Given the description of an element on the screen output the (x, y) to click on. 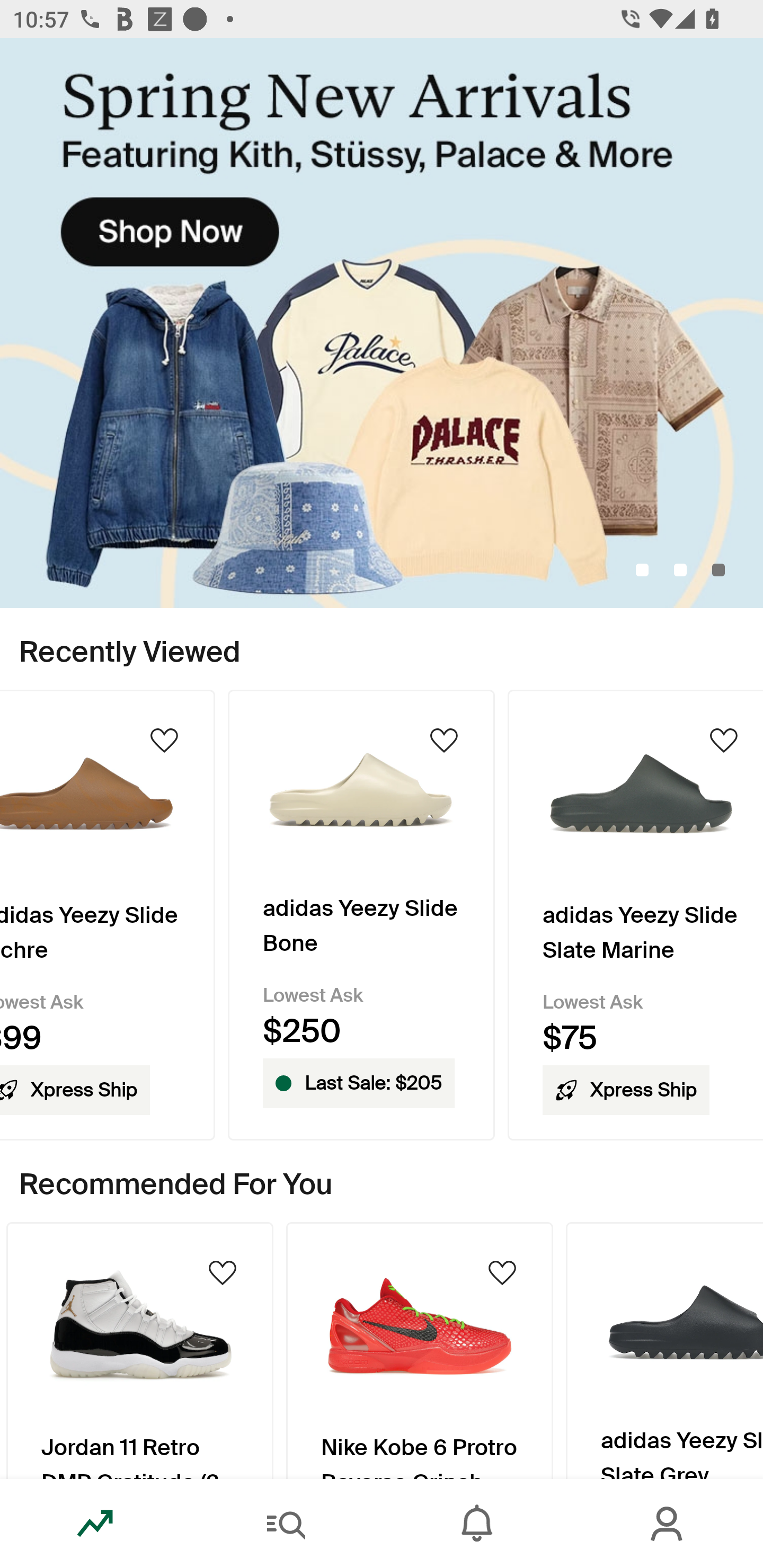
SpringNewArrivals-KithStussy_Primary_Mobile.jpg (381, 322)
Product Image Jordan 11 Retro DMP Gratitude (2023) (139, 1349)
Product Image Nike Kobe 6 Protro Reverse Grinch (419, 1349)
Product Image adidas Yeezy Slide Slate Grey (664, 1349)
Search (285, 1523)
Inbox (476, 1523)
Account (667, 1523)
